Given the description of an element on the screen output the (x, y) to click on. 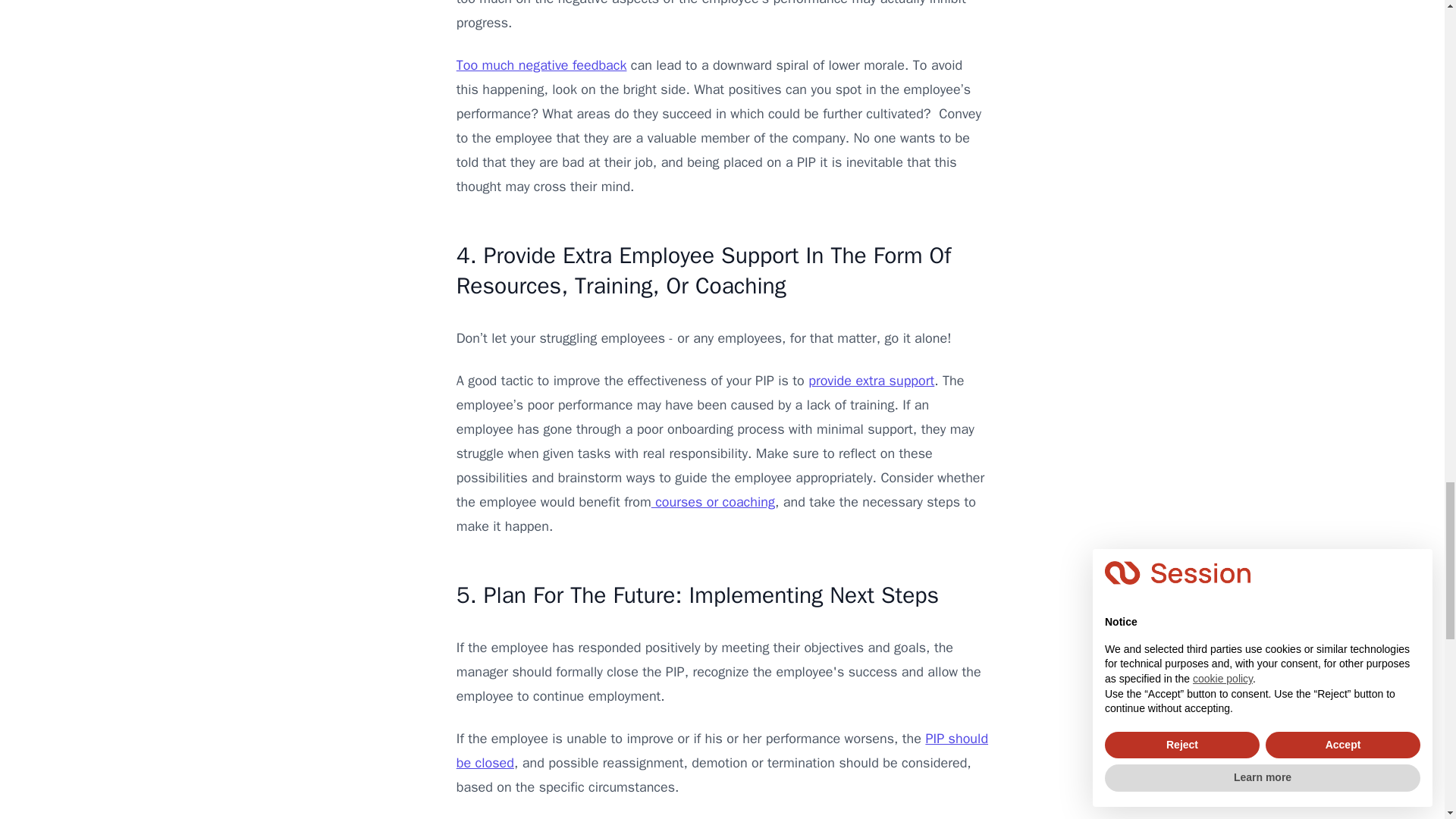
provide extra support (871, 380)
Too much negative feedback (542, 64)
courses or coaching (712, 501)
PIP should be closed (722, 750)
